Given the description of an element on the screen output the (x, y) to click on. 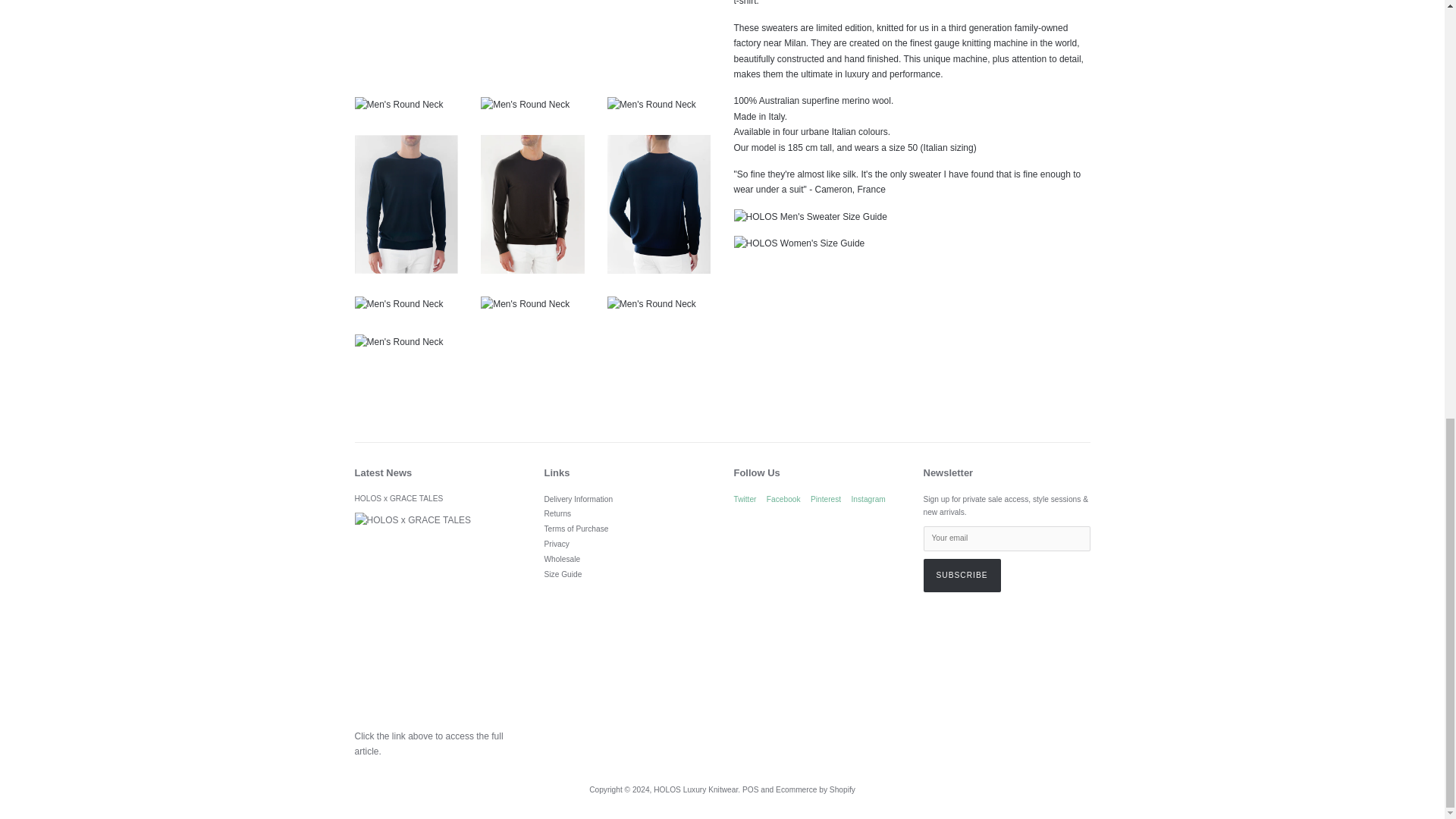
Subscribe (962, 575)
HOLOS Luxury Knitwear on Facebook (783, 499)
HOLOS Luxury Knitwear on Twitter (745, 499)
HOLOS Luxury Knitwear on Instagram (867, 499)
HOLOS Luxury Knitwear on Pinterest (825, 499)
